Given the description of an element on the screen output the (x, y) to click on. 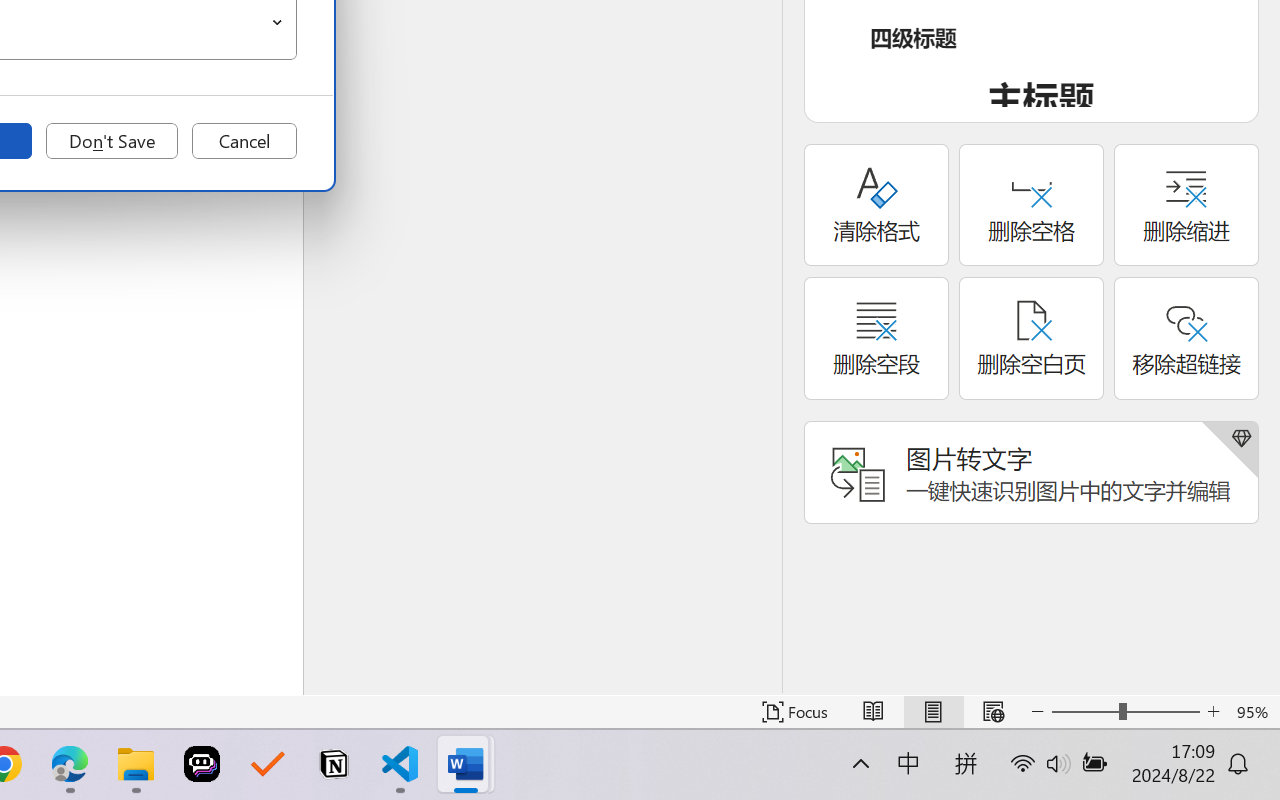
Don't Save (111, 141)
Cancel (244, 141)
